Given the description of an element on the screen output the (x, y) to click on. 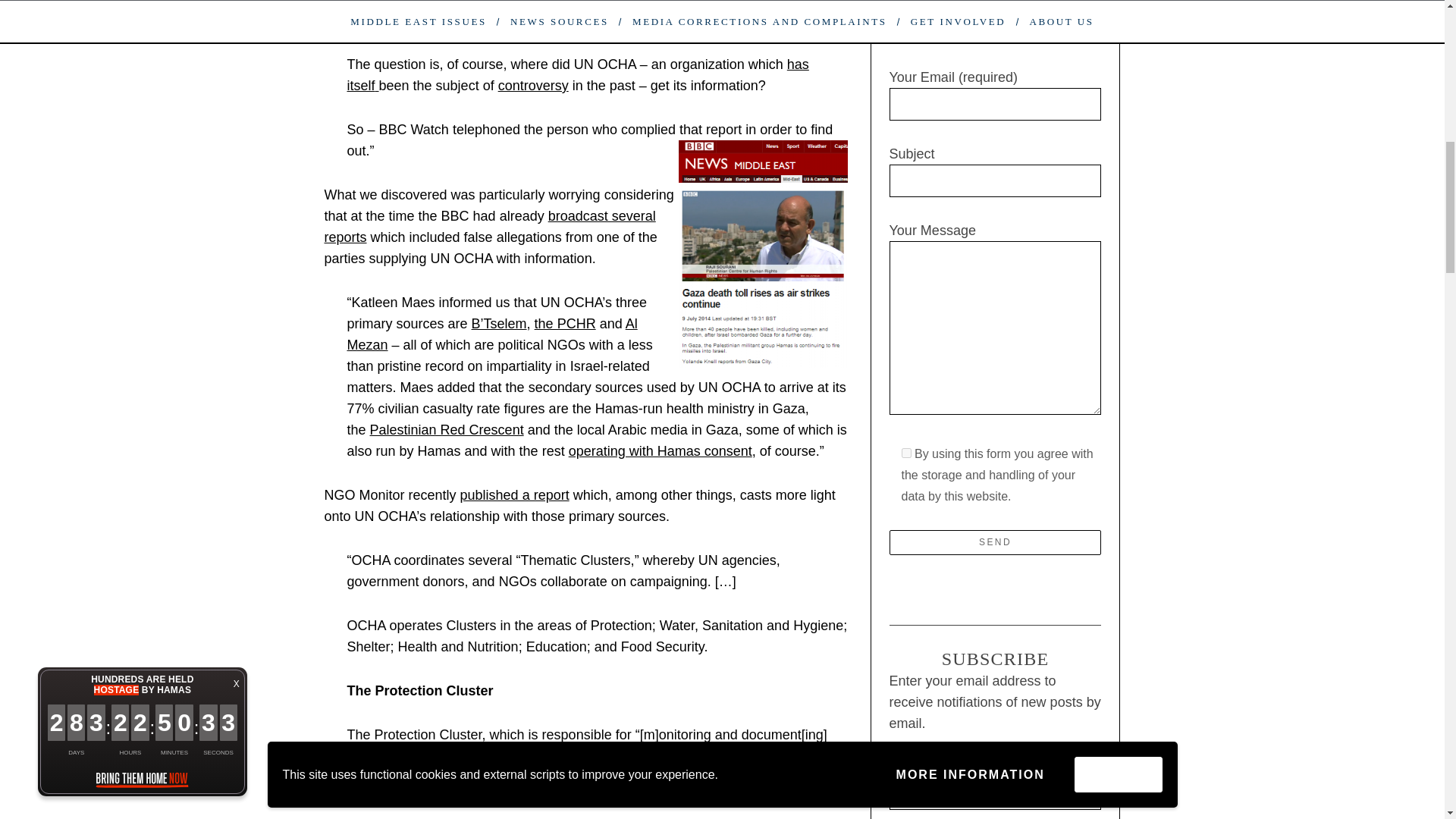
1 (906, 452)
controversy (533, 85)
Send (994, 542)
has itself (578, 74)
